Given the description of an element on the screen output the (x, y) to click on. 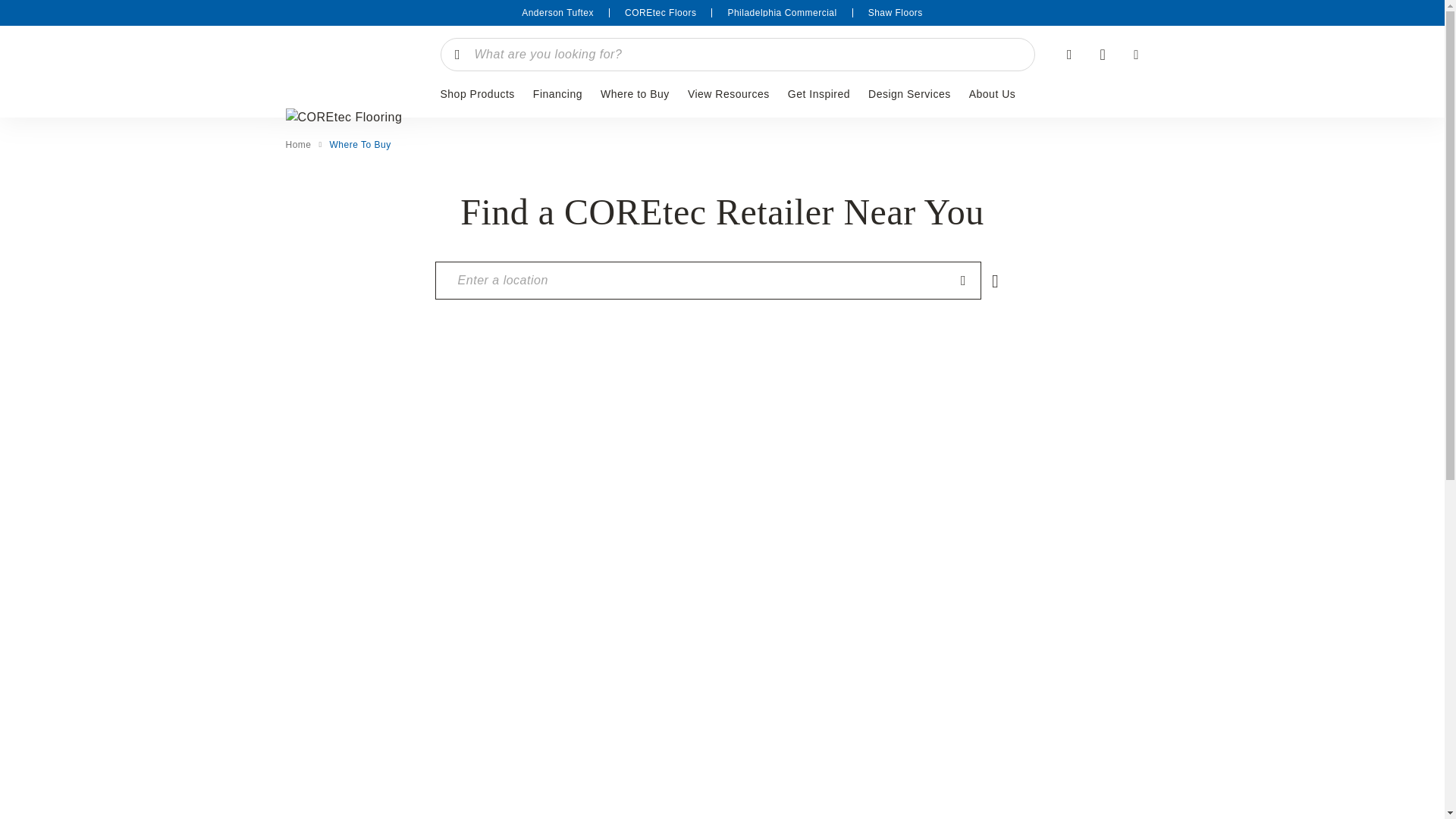
Philadelphia Commercial (780, 12)
Shaw Floors (895, 12)
Anderson Tuftex (557, 12)
COREtec Floors (659, 12)
Shop Products (476, 94)
search (742, 54)
